Given the description of an element on the screen output the (x, y) to click on. 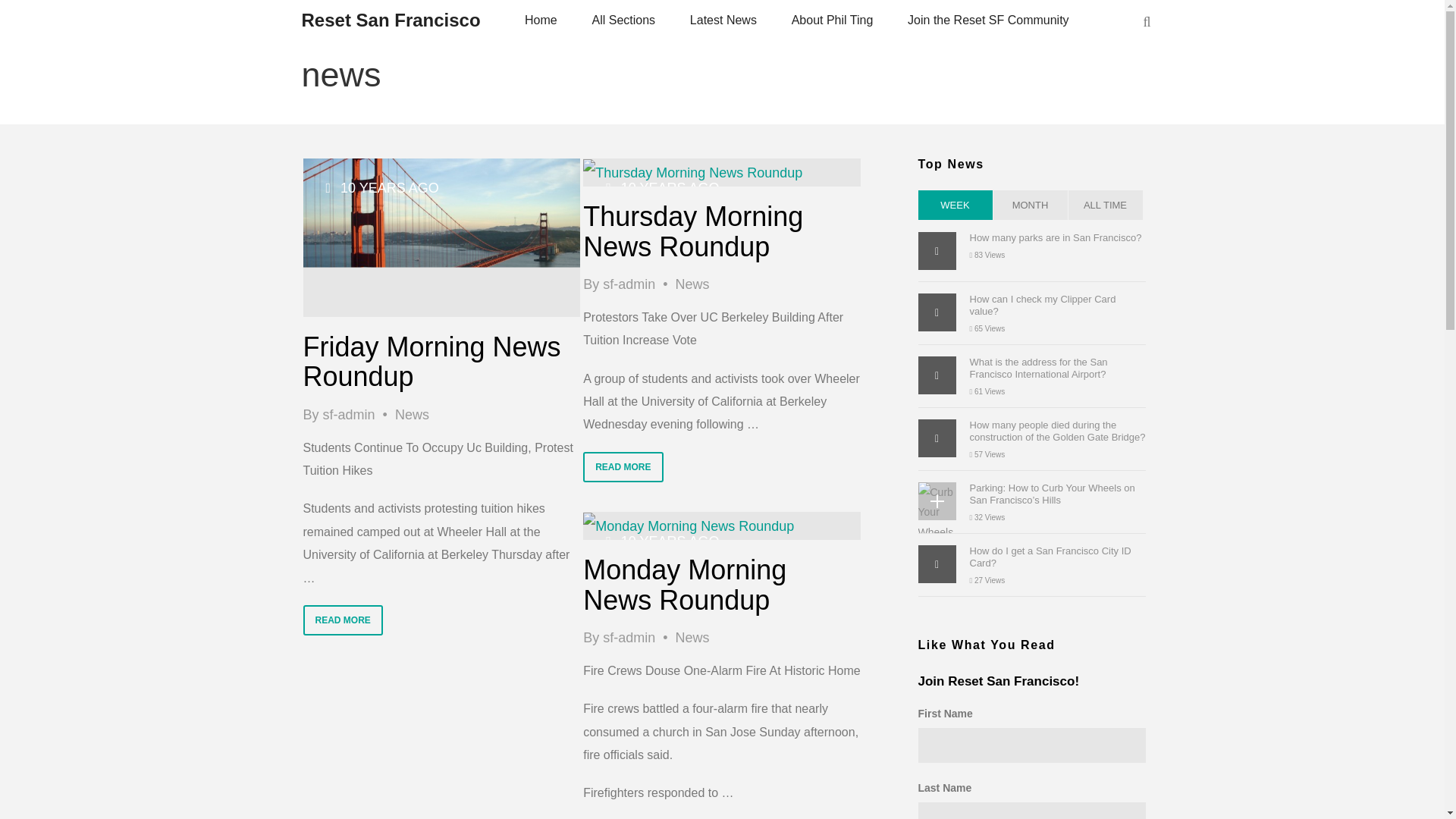
Friday Morning News Roundup (441, 237)
More News Posts (692, 637)
Reset San Francisco (390, 20)
All Sections (623, 20)
About Phil Ting (831, 20)
More News Posts (411, 414)
More News Posts (692, 283)
Join the Reset SF Community (988, 20)
Home (540, 20)
Posts by sf-admin (349, 414)
Posts by sf-admin (628, 637)
Posts by sf-admin (628, 283)
Latest News (722, 20)
Monday Morning News Roundup (688, 525)
Thursday Morning News Roundup (692, 172)
